Given the description of an element on the screen output the (x, y) to click on. 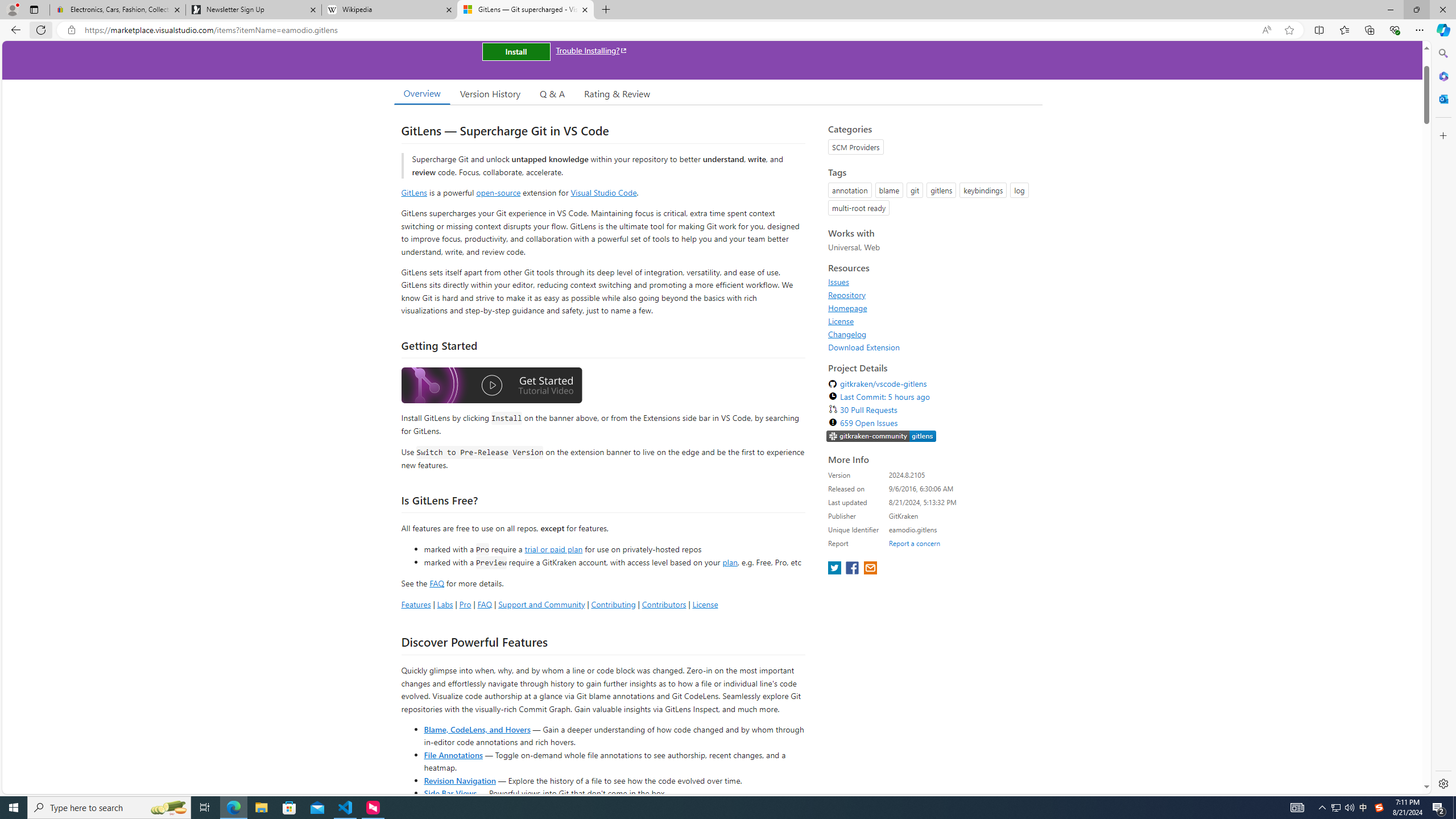
File Annotations (453, 754)
